Given the description of an element on the screen output the (x, y) to click on. 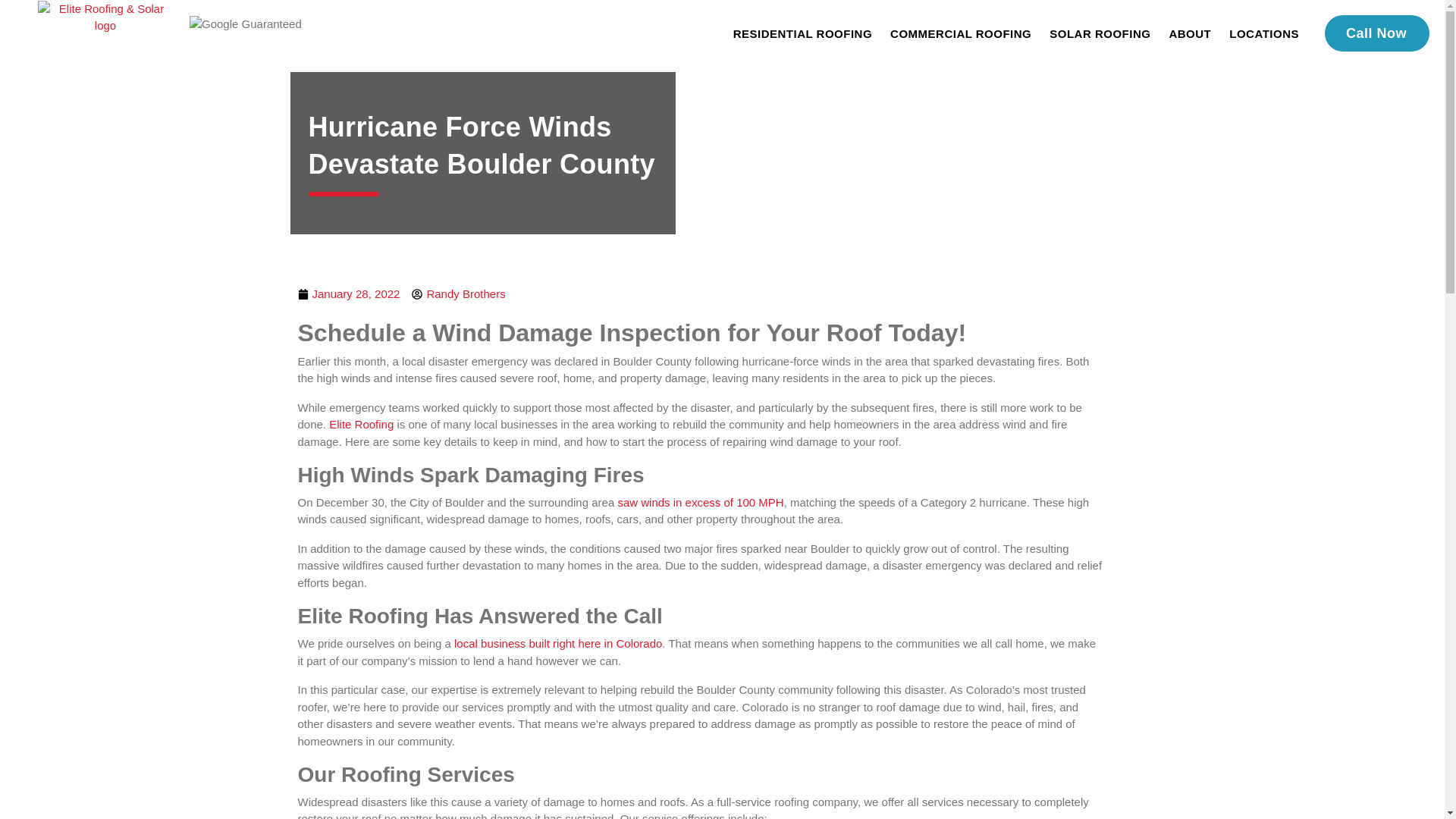
Call Now (1376, 33)
ABOUT (1189, 33)
RESIDENTIAL ROOFING (801, 33)
SOLAR ROOFING (1099, 33)
COMMERCIAL ROOFING (960, 33)
LOCATIONS (1263, 33)
google-guarantee-logo (245, 24)
elite-roofing-and-solar-logo-ribbon (105, 17)
